Given the description of an element on the screen output the (x, y) to click on. 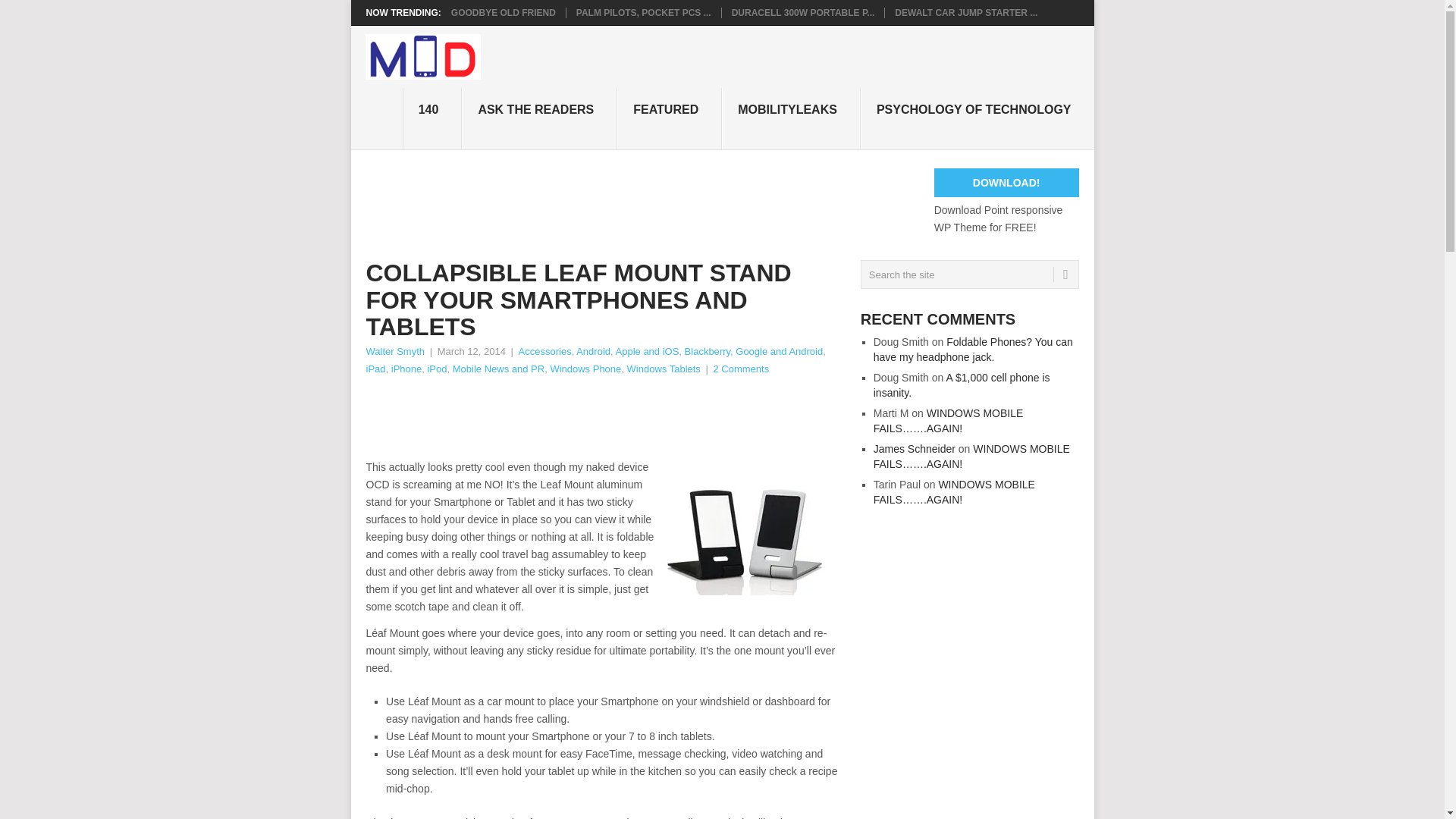
Posts by Walter Smyth (395, 351)
Apple and iOS (647, 351)
DEWALT CAR JUMP STARTER ... (965, 12)
GOODBYE OLD FRIEND (503, 12)
Goodbye Old Friend (503, 12)
iPad (375, 368)
Mobile News and PR (498, 368)
iPhone (406, 368)
PALM PILOTS, POCKET PCS ... (643, 12)
140 (433, 118)
